Given the description of an element on the screen output the (x, y) to click on. 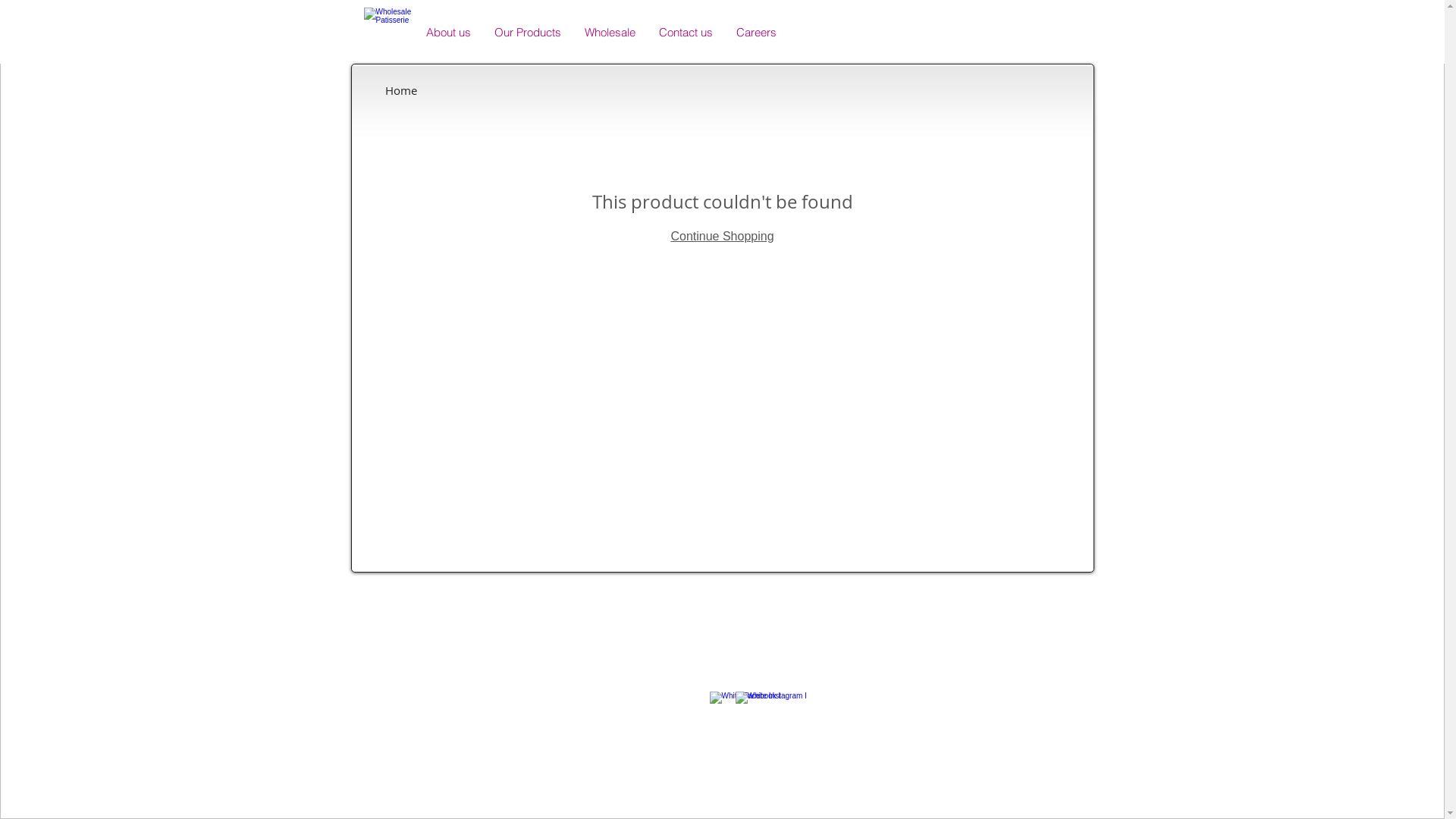
About us Element type: text (447, 32)
Continue Shopping Element type: text (721, 235)
Contact us Element type: text (684, 32)
Careers Element type: text (755, 32)
Home Element type: text (401, 89)
Wholesale Element type: text (608, 32)
orders@mosaicpatisserie.com.au Element type: text (740, 669)
